Given the description of an element on the screen output the (x, y) to click on. 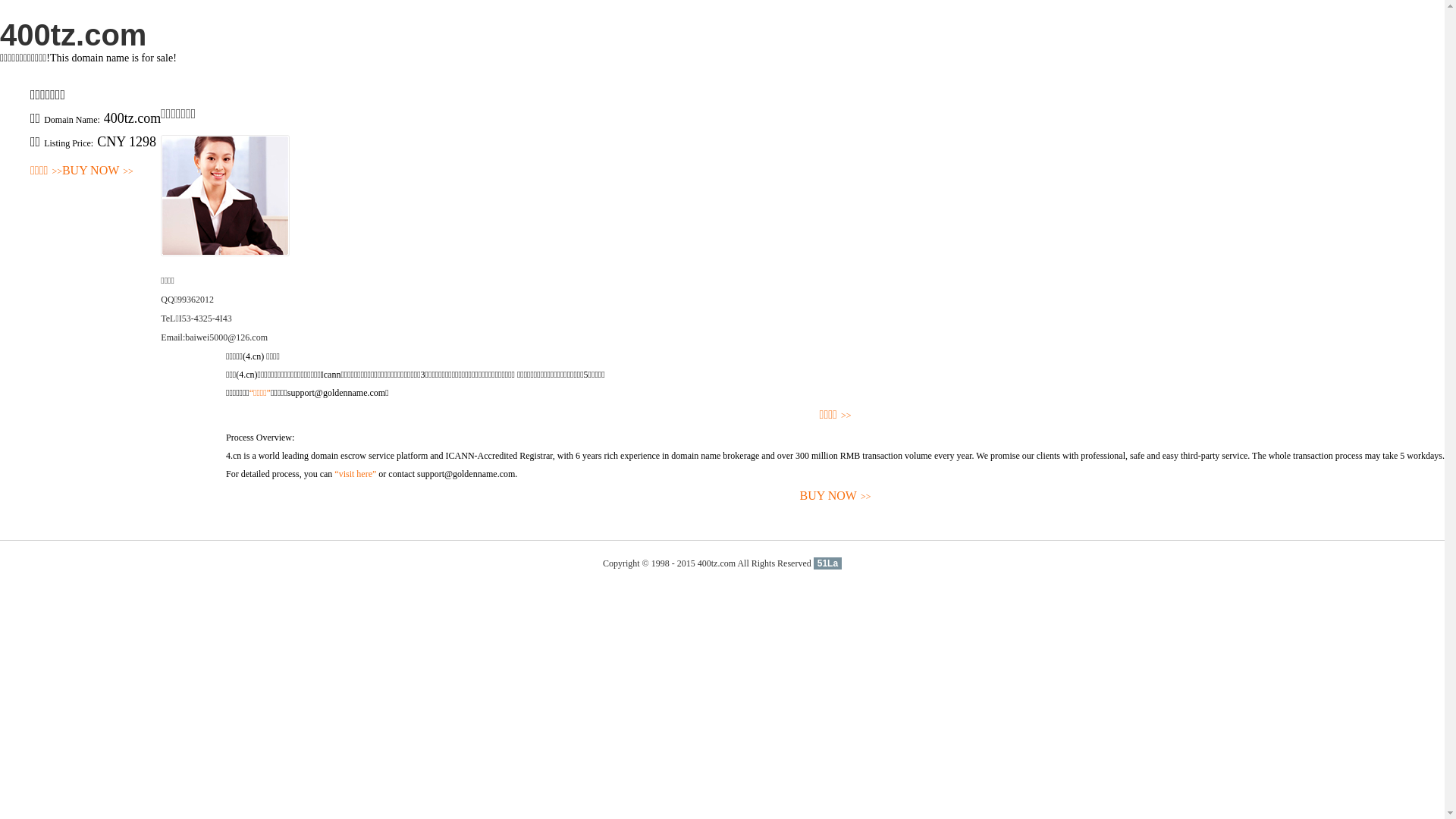
51La Element type: text (827, 563)
BUY NOW>> Element type: text (834, 496)
BUY NOW>> Element type: text (97, 170)
